Given the description of an element on the screen output the (x, y) to click on. 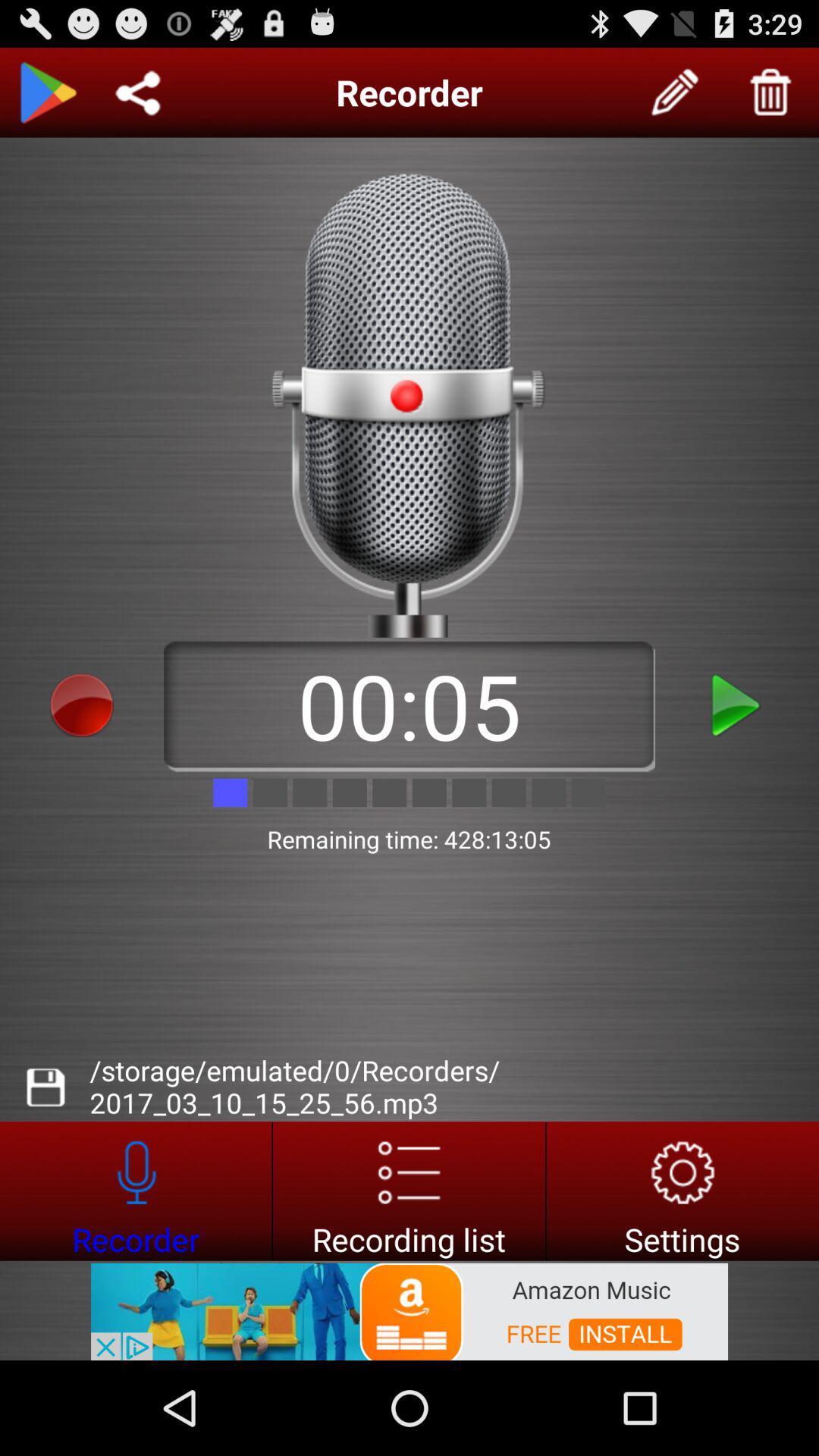
go to advertisement (409, 1190)
